Given the description of an element on the screen output the (x, y) to click on. 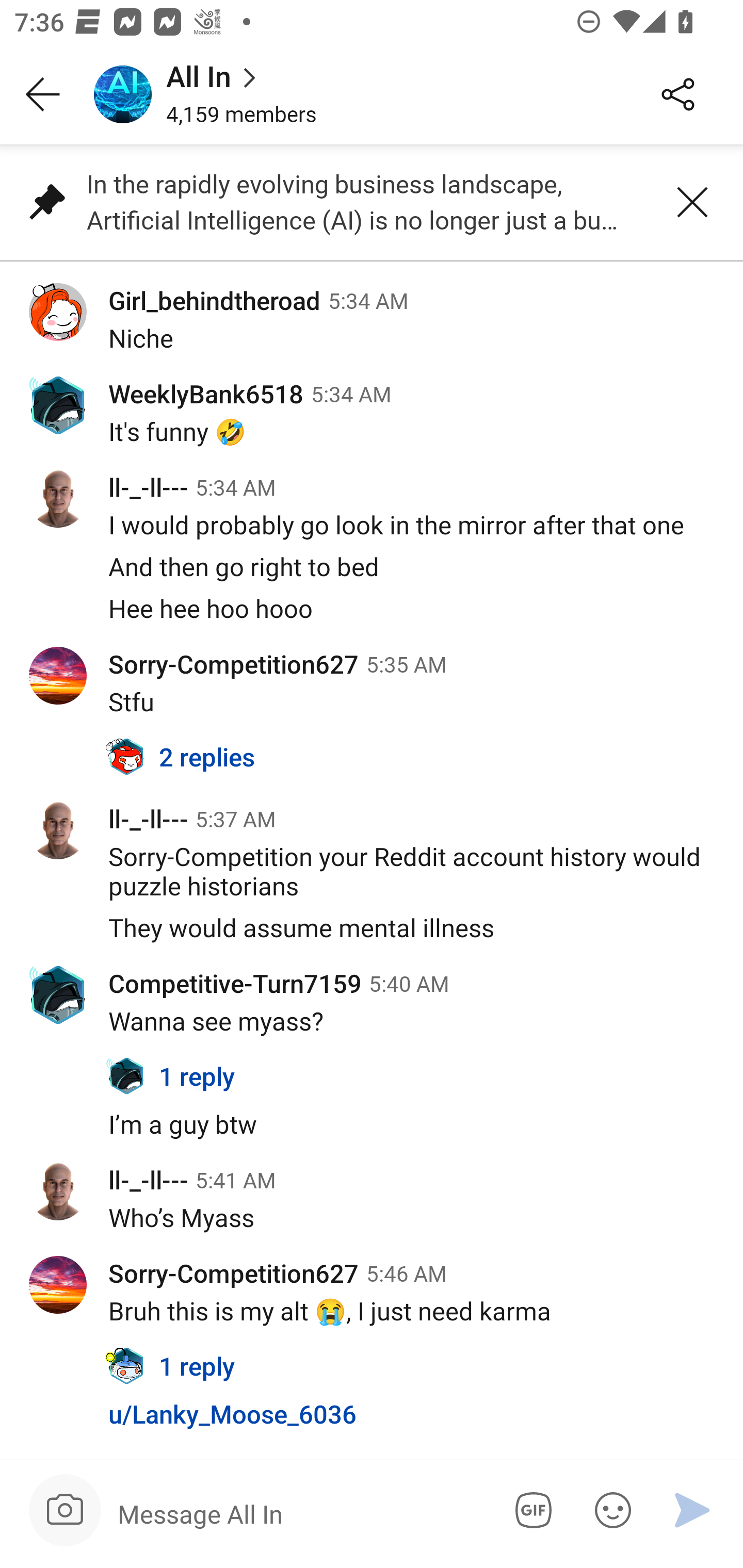
All In 4,159 members (353, 93)
Back (43, 94)
Share (677, 94)
ll-_-ll--- ll-_-ll--- posted 5:41 AM Who’s Myass (371, 1206)
u/Lanky_Moose_6036 (371, 1424)
Upload image (64, 1510)
Add GIF (529, 1510)
Add sticker (609, 1510)
Send message (692, 1510)
Message Message All In (298, 1513)
